Given the description of an element on the screen output the (x, y) to click on. 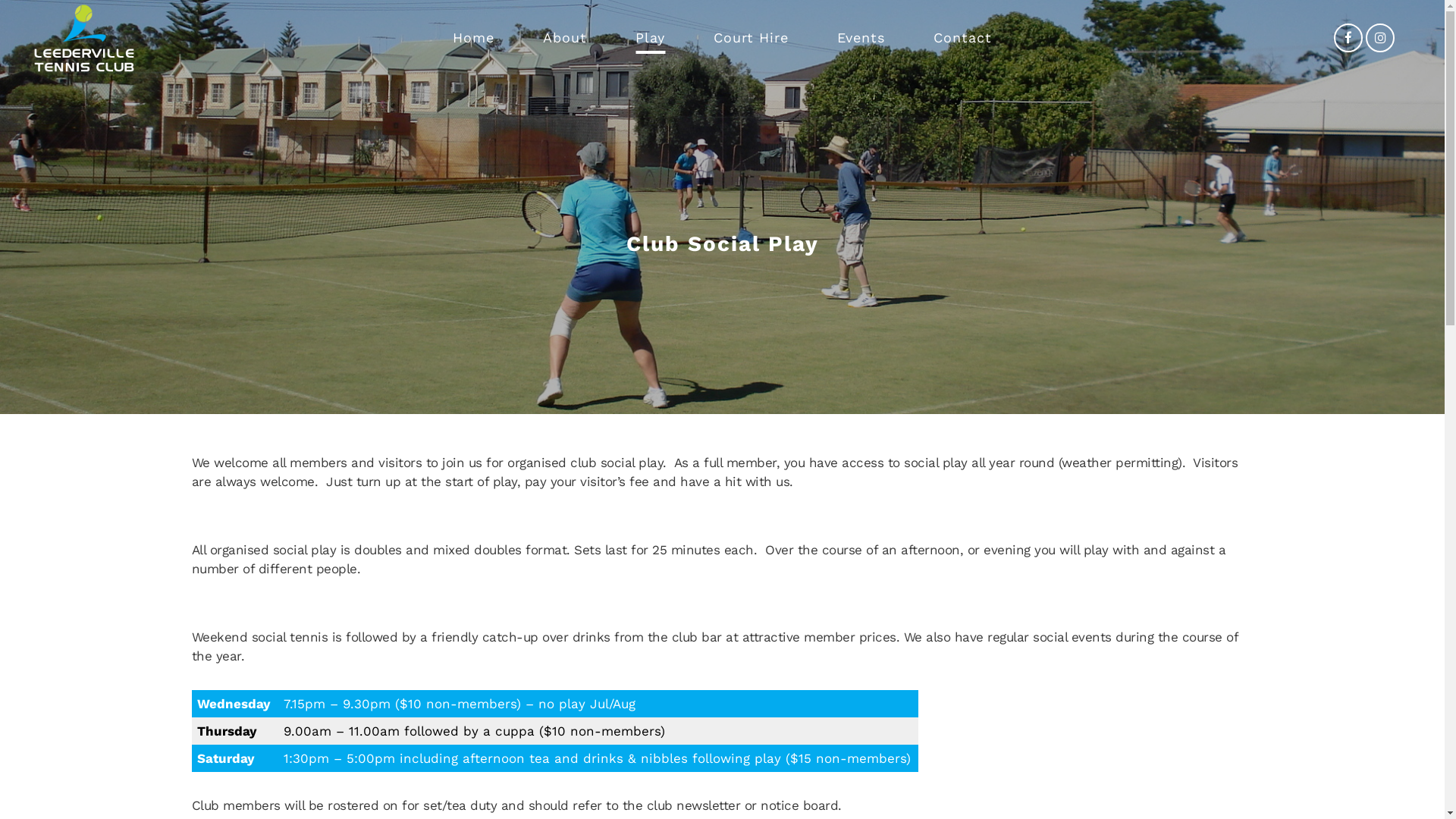
Home Element type: text (473, 37)
Play Element type: text (649, 37)
Contact Element type: text (962, 37)
Court Hire Element type: text (750, 37)
Events Element type: text (860, 37)
About Element type: text (564, 37)
